Given the description of an element on the screen output the (x, y) to click on. 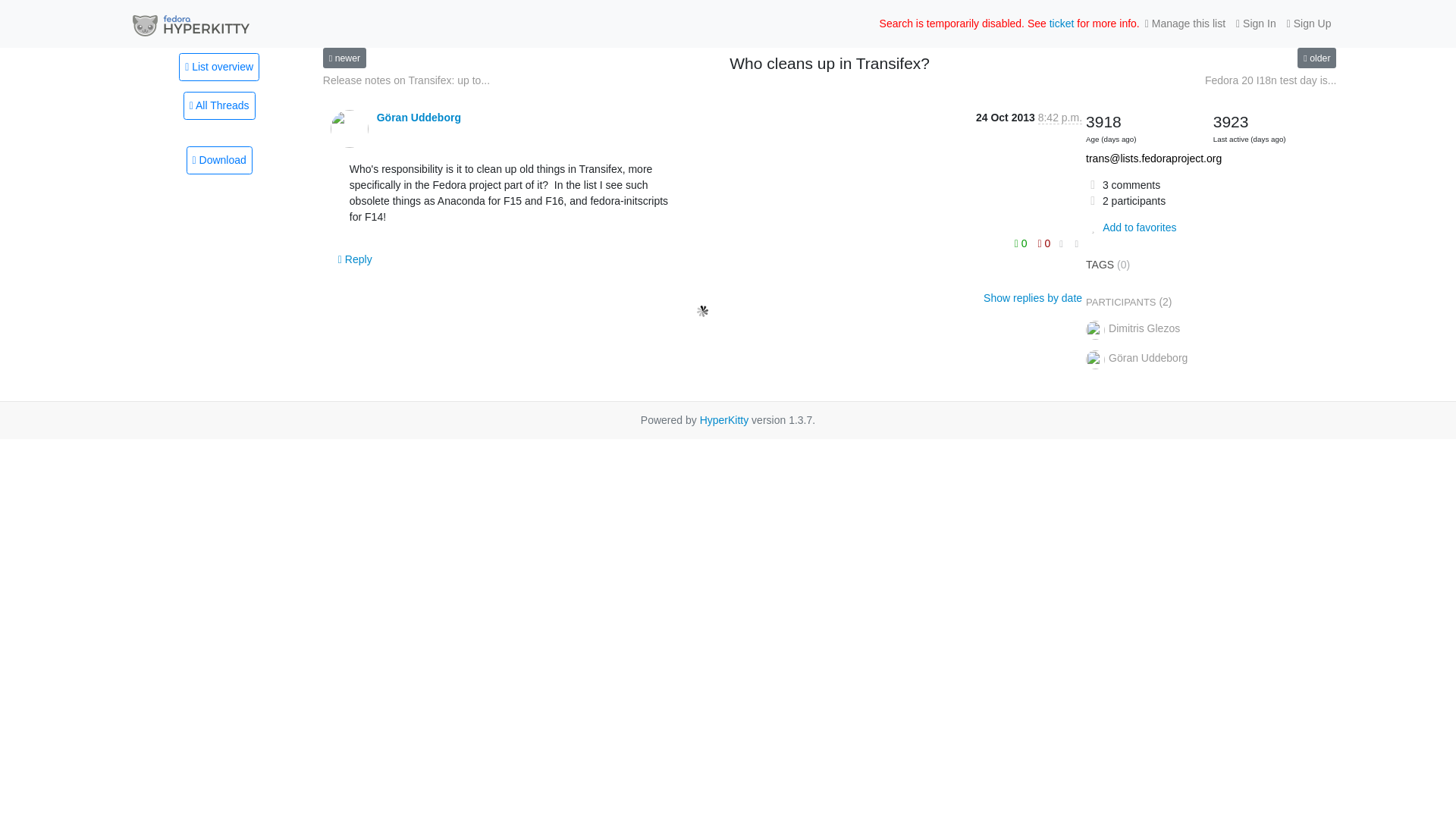
Sender's time: Oct. 24, 2013, 9:42 p.m. (1059, 117)
newer (344, 57)
You must be logged-in to vote. (1043, 243)
Sign In (1255, 23)
Manage this list (1185, 23)
Download (218, 160)
Fedora 20 I18n test day is... (1270, 80)
This thread in gzipped mbox format (218, 160)
Fedora Mailing-Lists (190, 23)
You must be logged-in to vote. (1021, 243)
Sign in to reply online (355, 258)
Release notes on Transifex: up to... (406, 80)
All Threads (219, 105)
ticket (1061, 23)
You must be logged-in to have favorites. (1131, 227)
